Given the description of an element on the screen output the (x, y) to click on. 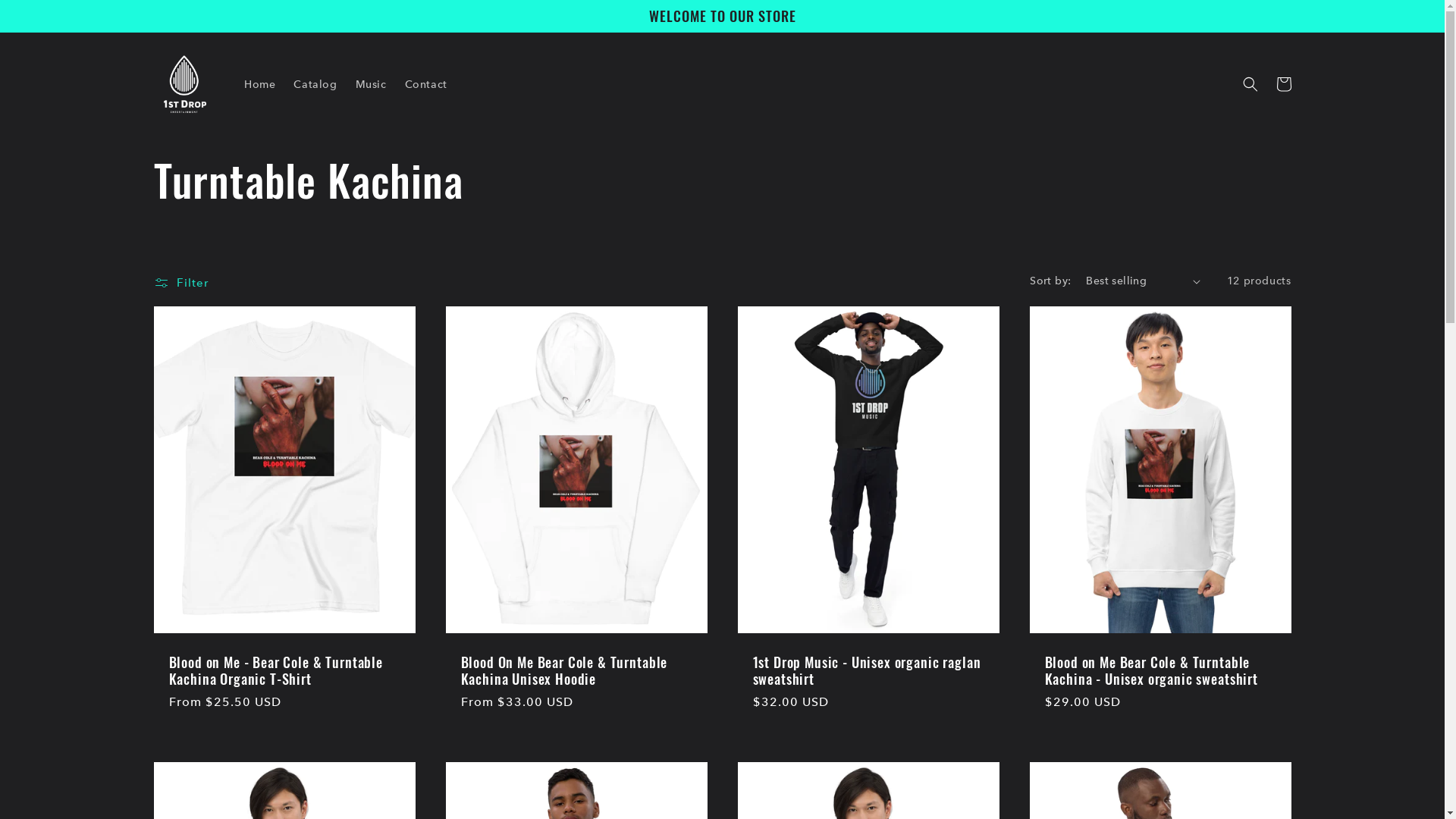
Music Element type: text (370, 84)
Cart Element type: text (1282, 83)
Contact Element type: text (425, 84)
Blood On Me Bear Cole & Turntable Kachina Unisex Hoodie Element type: text (576, 670)
1st Drop Music - Unisex organic raglan sweatshirt Element type: text (867, 670)
Catalog Element type: text (314, 84)
Home Element type: text (259, 84)
Blood on Me - Bear Cole & Turntable Kachina Organic T-Shirt Element type: text (283, 670)
